Given the description of an element on the screen output the (x, y) to click on. 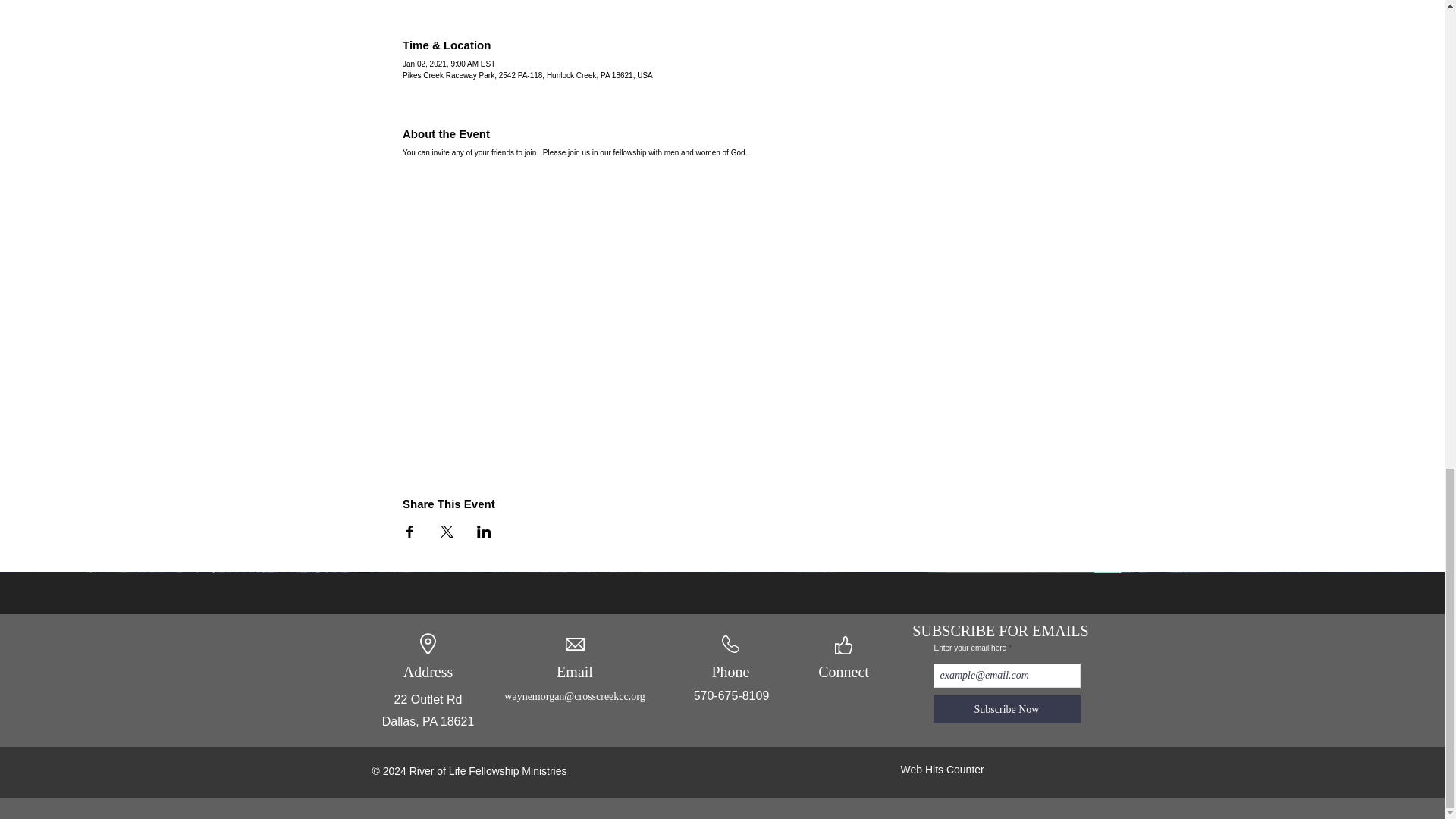
Subscribe Now (1006, 709)
570-675-8109 (732, 695)
